Given the description of an element on the screen output the (x, y) to click on. 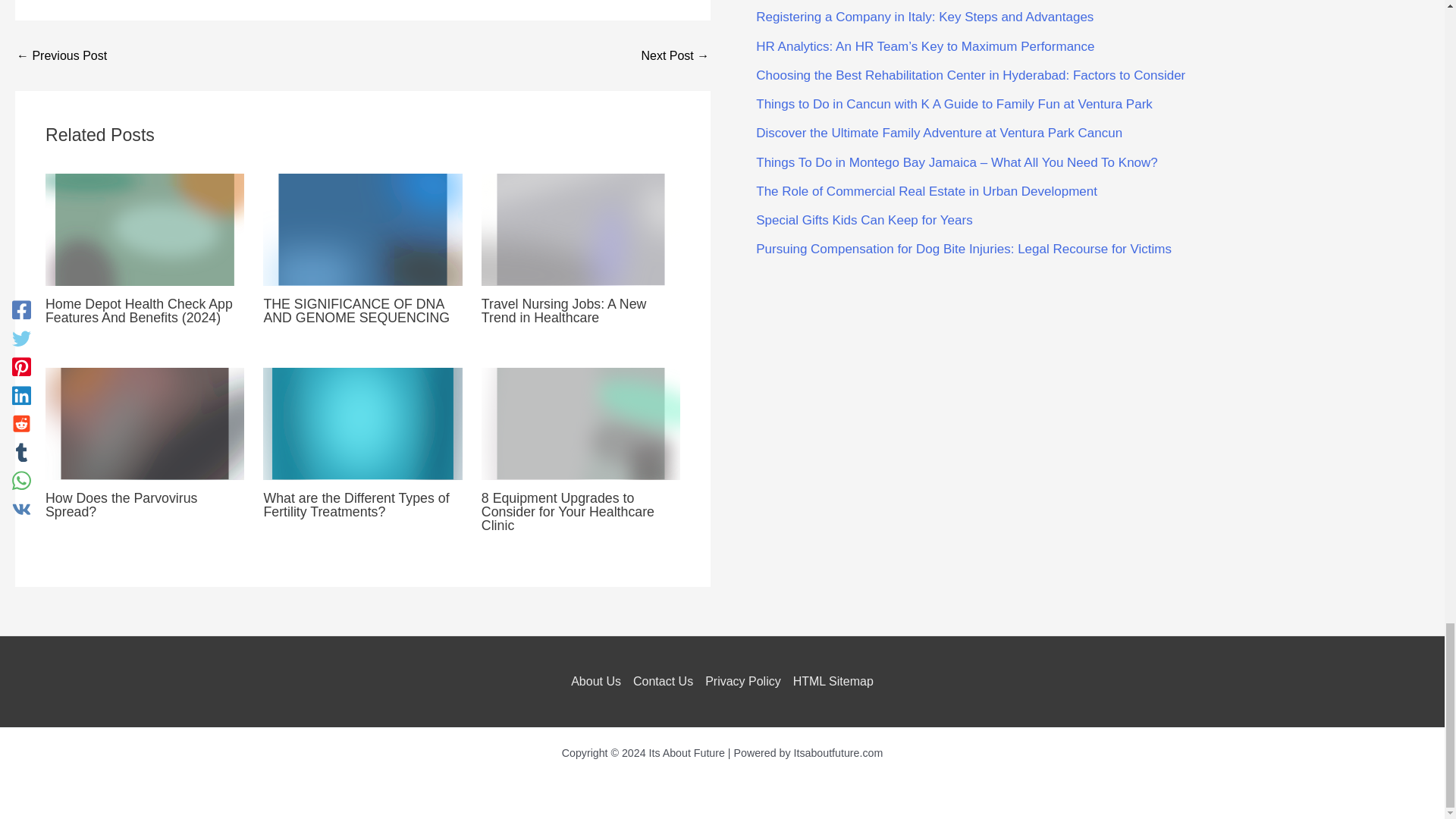
Travel Nursing Jobs: A New Trend in Healthcare 5 (580, 229)
THE SIGNIFICANCE OF DNA AND GENOME SEQUENCING 4 (362, 229)
What are the Different Types of Fertility Treatments? 7 (362, 423)
How Does the Parvovirus Spread? 6 (144, 423)
How old is Lanie Gardner? Need To Know Everything 2024 (674, 55)
